Given the description of an element on the screen output the (x, y) to click on. 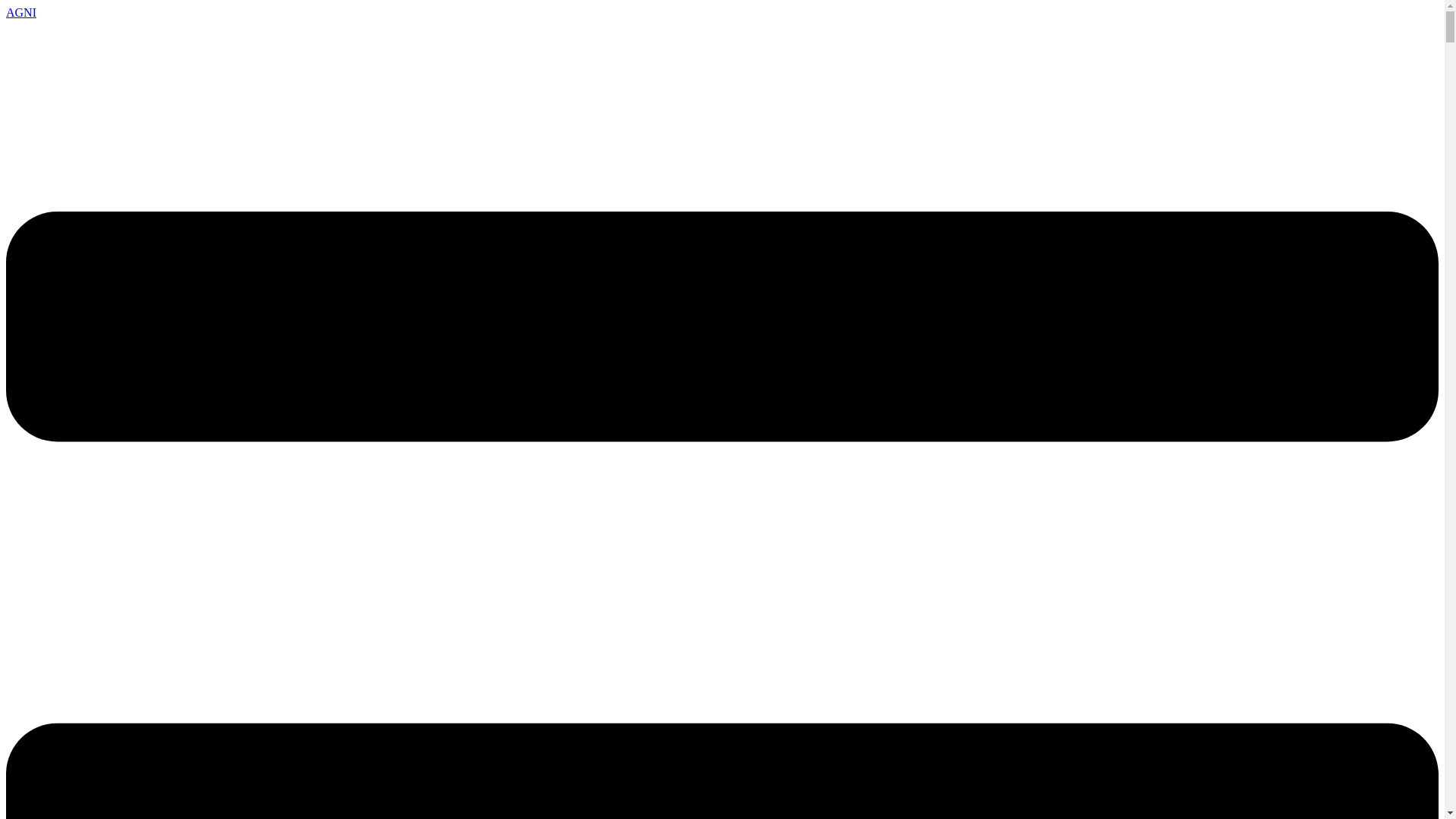
AGNI (20, 11)
